Given the description of an element on the screen output the (x, y) to click on. 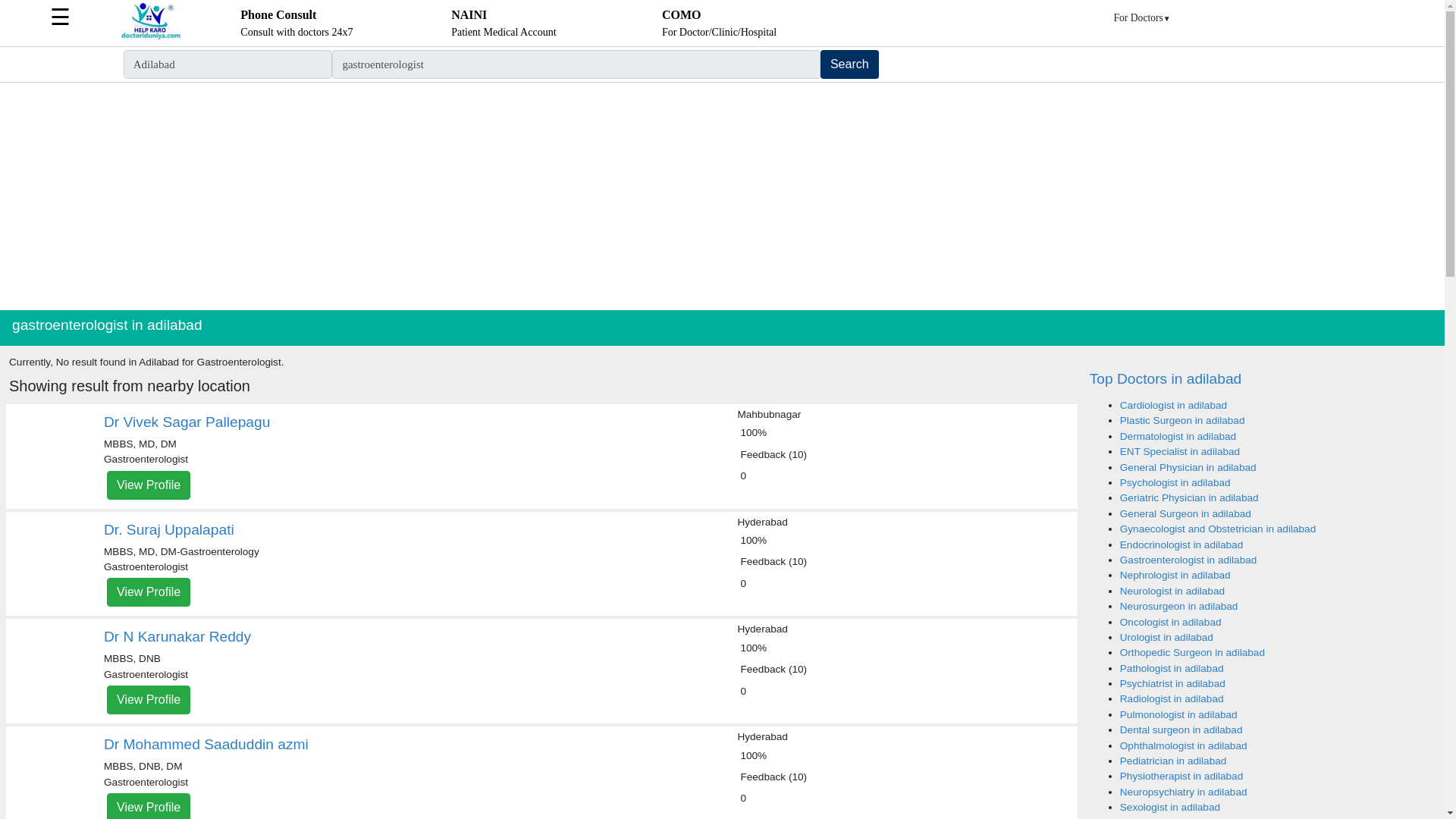
View Profile (148, 699)
doctoriduniya (150, 35)
gastroenterologist (575, 63)
Cardiologist in adilabad (503, 23)
View Profile (1173, 405)
Search (148, 592)
Online Consult (850, 63)
DoctoriDuniya (296, 23)
